Given the description of an element on the screen output the (x, y) to click on. 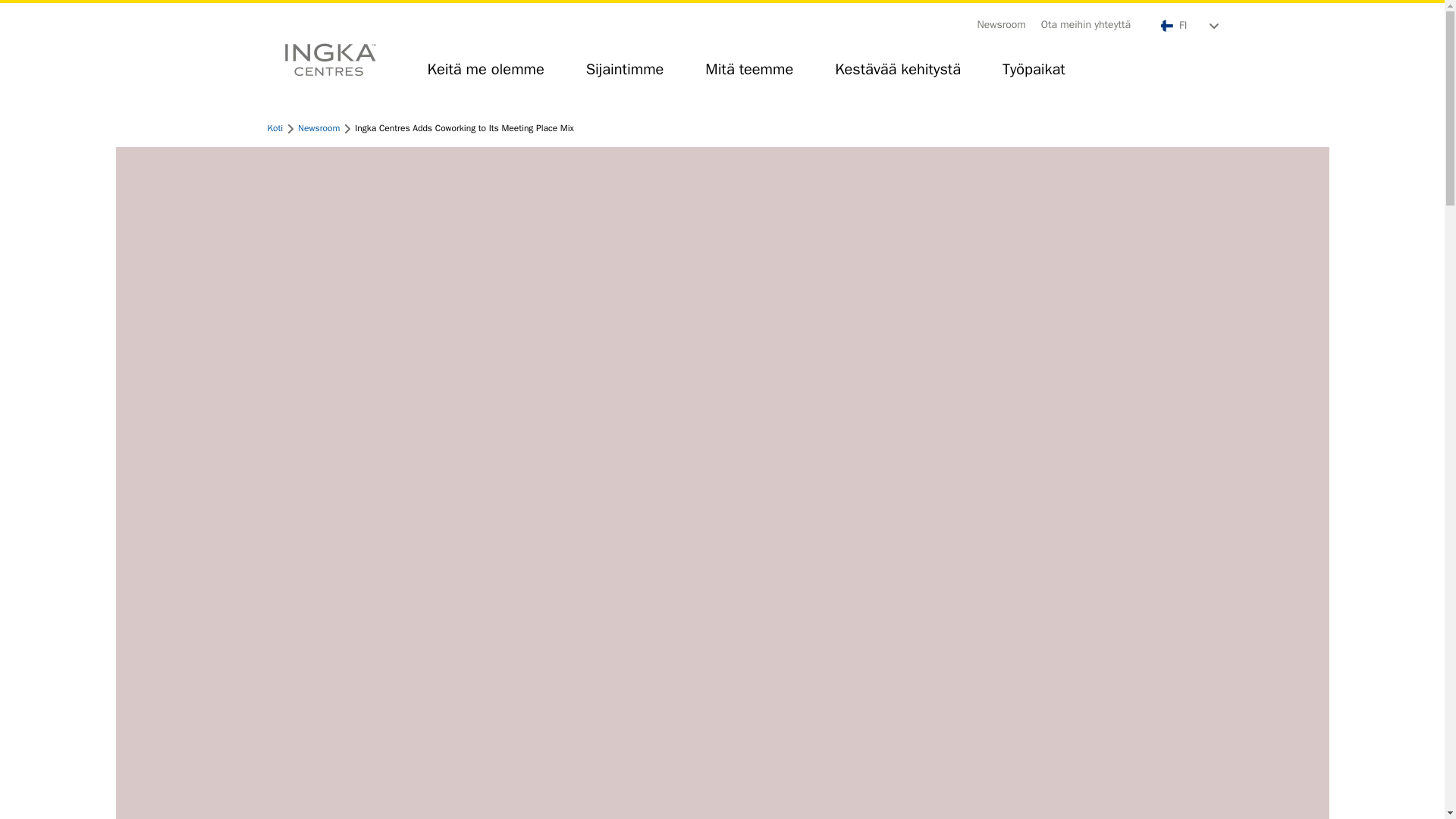
Newsroom (318, 128)
Sijaintimme (624, 75)
Newsroom (1000, 24)
Koti (274, 128)
